Given the description of an element on the screen output the (x, y) to click on. 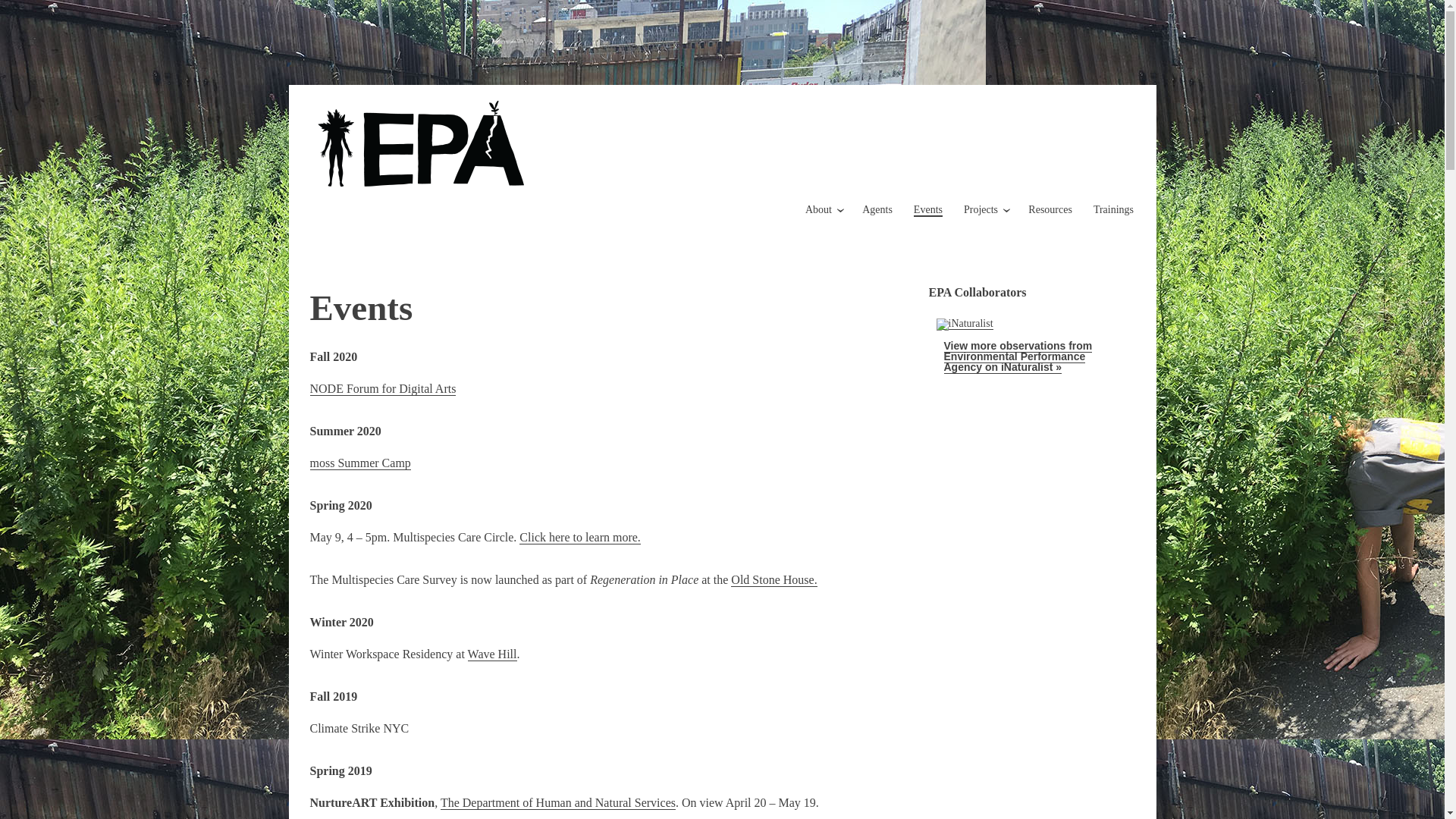
The Department of Human and Natural Services (558, 802)
Environmental Performance Agency (480, 232)
Trainings (1113, 209)
About (818, 209)
Old Stone House. (773, 580)
Click here to learn more. (579, 537)
Projects (980, 209)
moss Summer Camp (359, 463)
Resources (1049, 209)
Wave Hill (491, 653)
NODE Forum for Digital Arts (381, 388)
Agents (876, 209)
Events (928, 210)
